Given the description of an element on the screen output the (x, y) to click on. 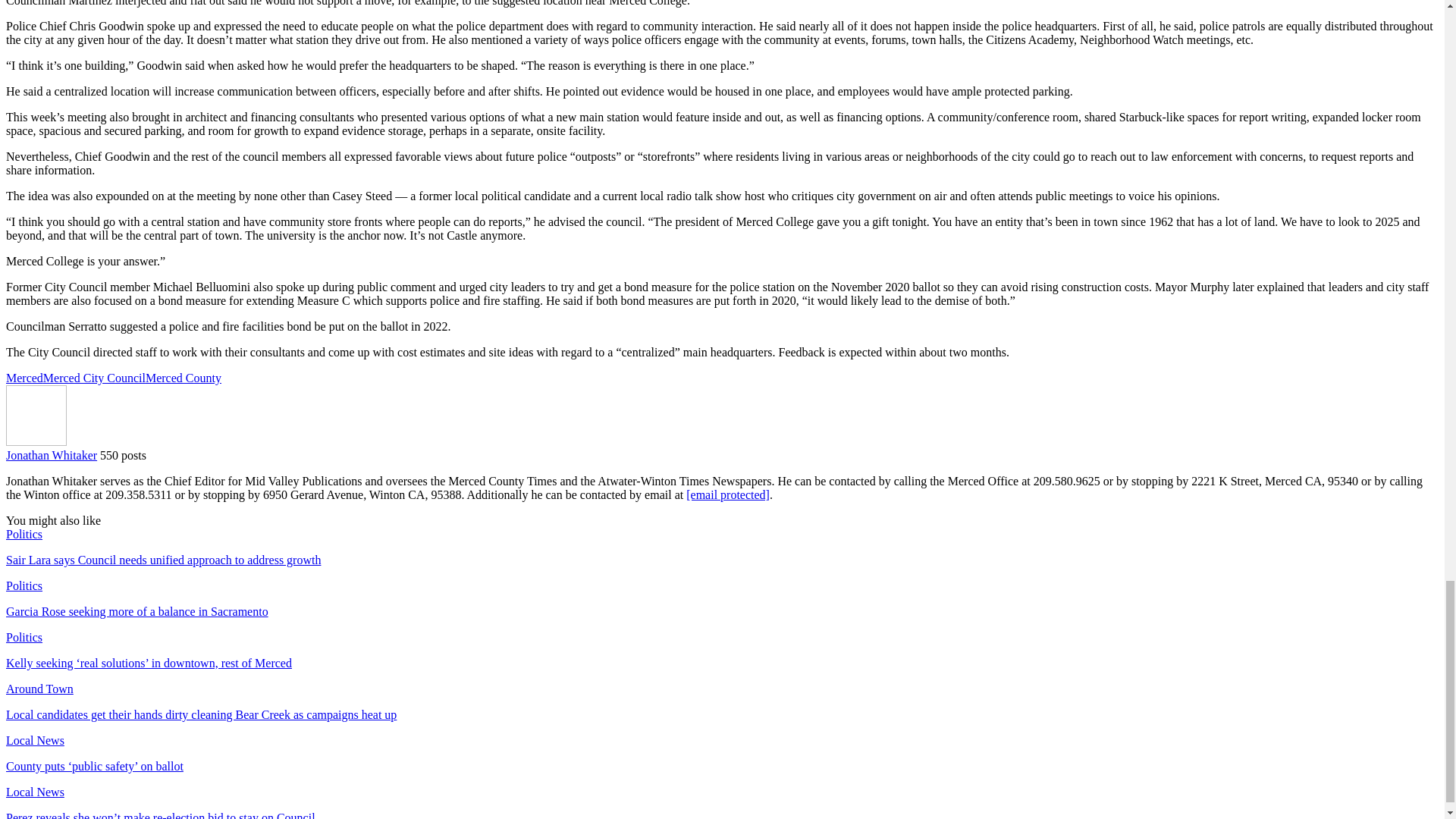
Browse Author Articles (35, 440)
